Given the description of an element on the screen output the (x, y) to click on. 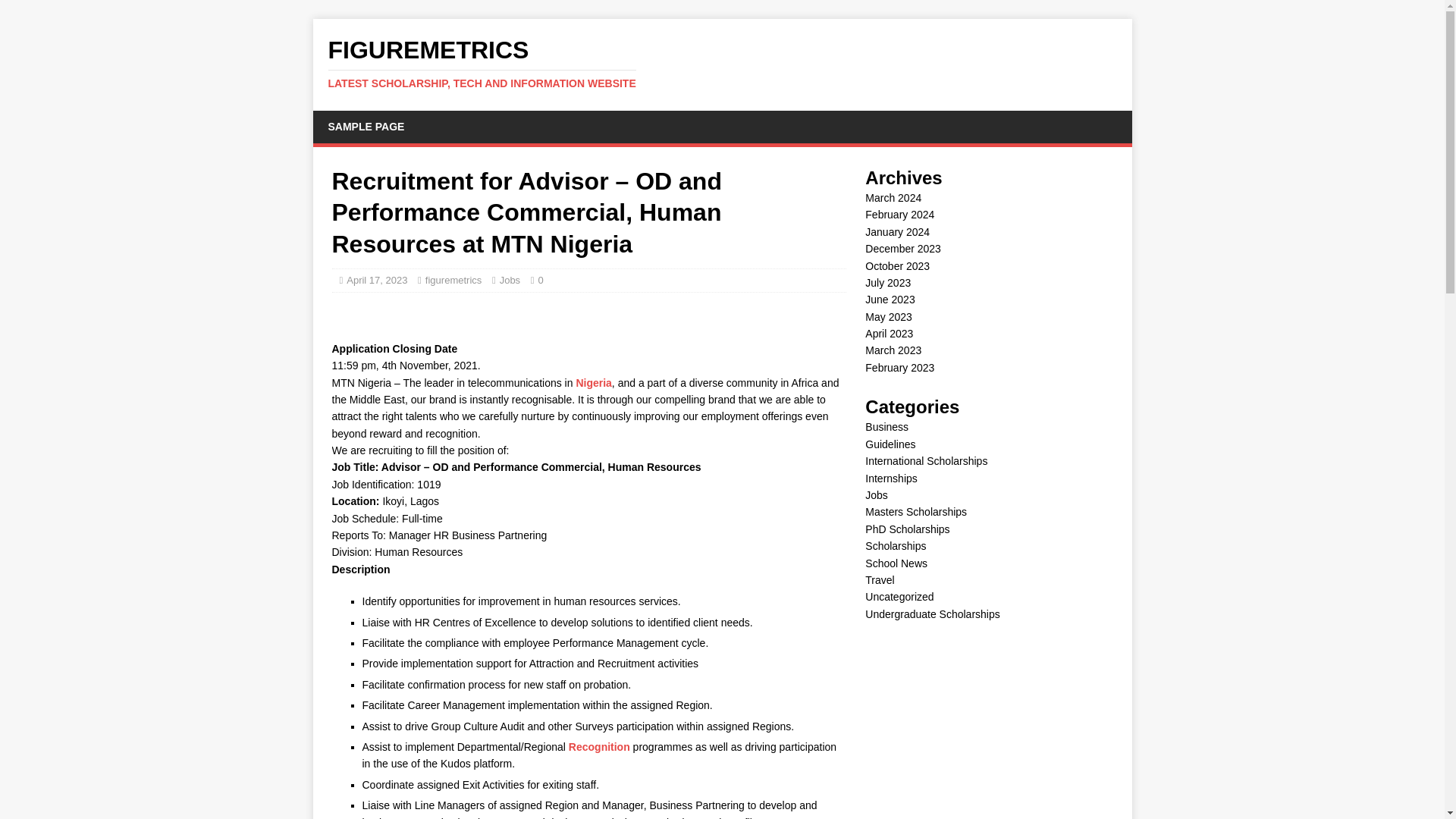
March 2023 (892, 349)
February 2023 (899, 367)
Undergraduate Scholarships (931, 613)
July 2023 (887, 282)
Uncategorized (898, 596)
Guidelines (889, 444)
SAMPLE PAGE (366, 126)
May 2023 (887, 316)
Masters Scholarships (915, 511)
Internships (890, 478)
